Given the description of an element on the screen output the (x, y) to click on. 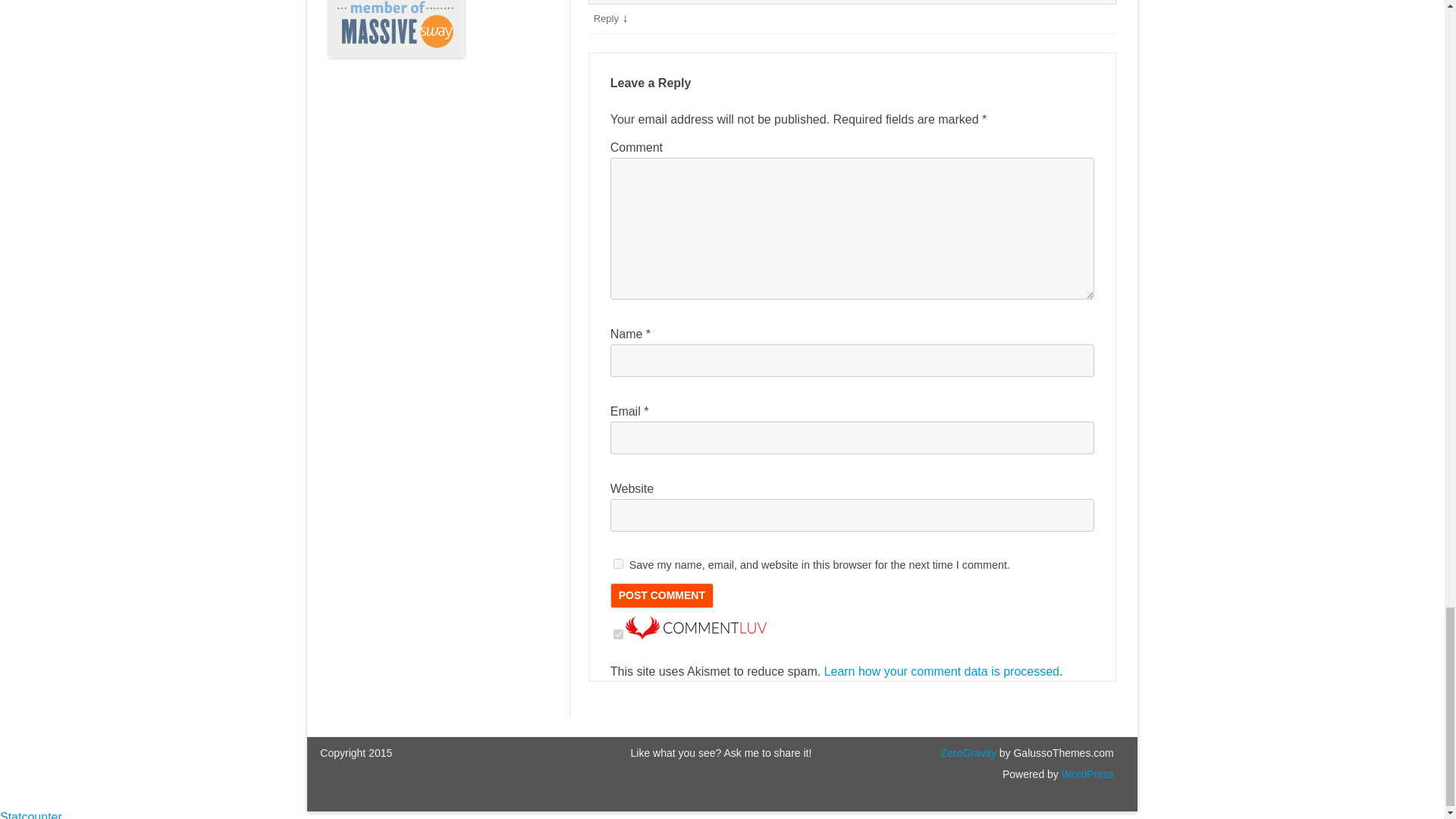
Post Comment (661, 596)
Learn how your comment data is processed (941, 671)
Post Comment (661, 596)
yes (617, 563)
Semantic Personal Publishing Platform (1085, 774)
Reply (606, 18)
on (617, 634)
CommentLuv is enabled (696, 634)
